Given the description of an element on the screen output the (x, y) to click on. 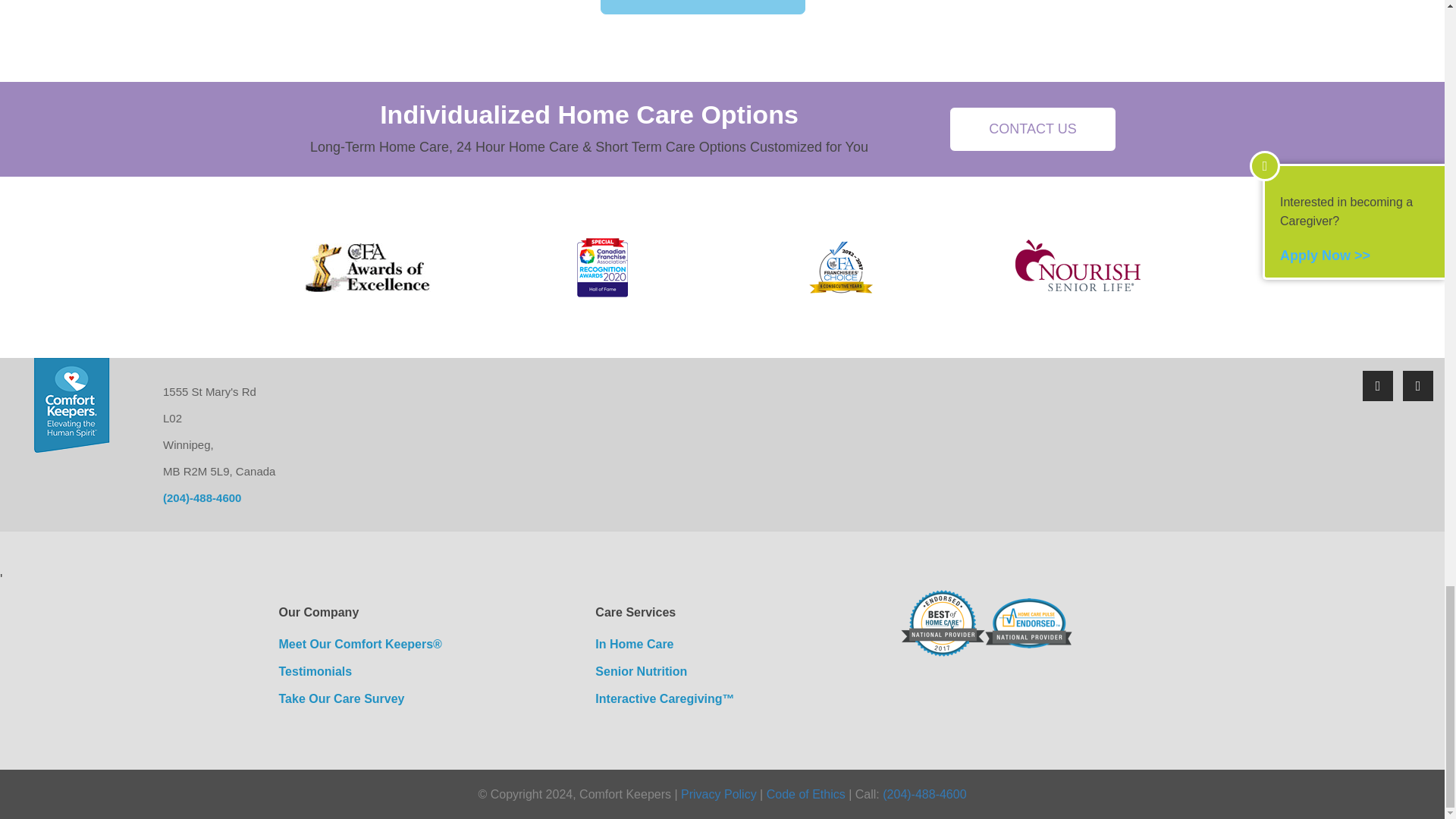
Submit (702, 7)
